Given the description of an element on the screen output the (x, y) to click on. 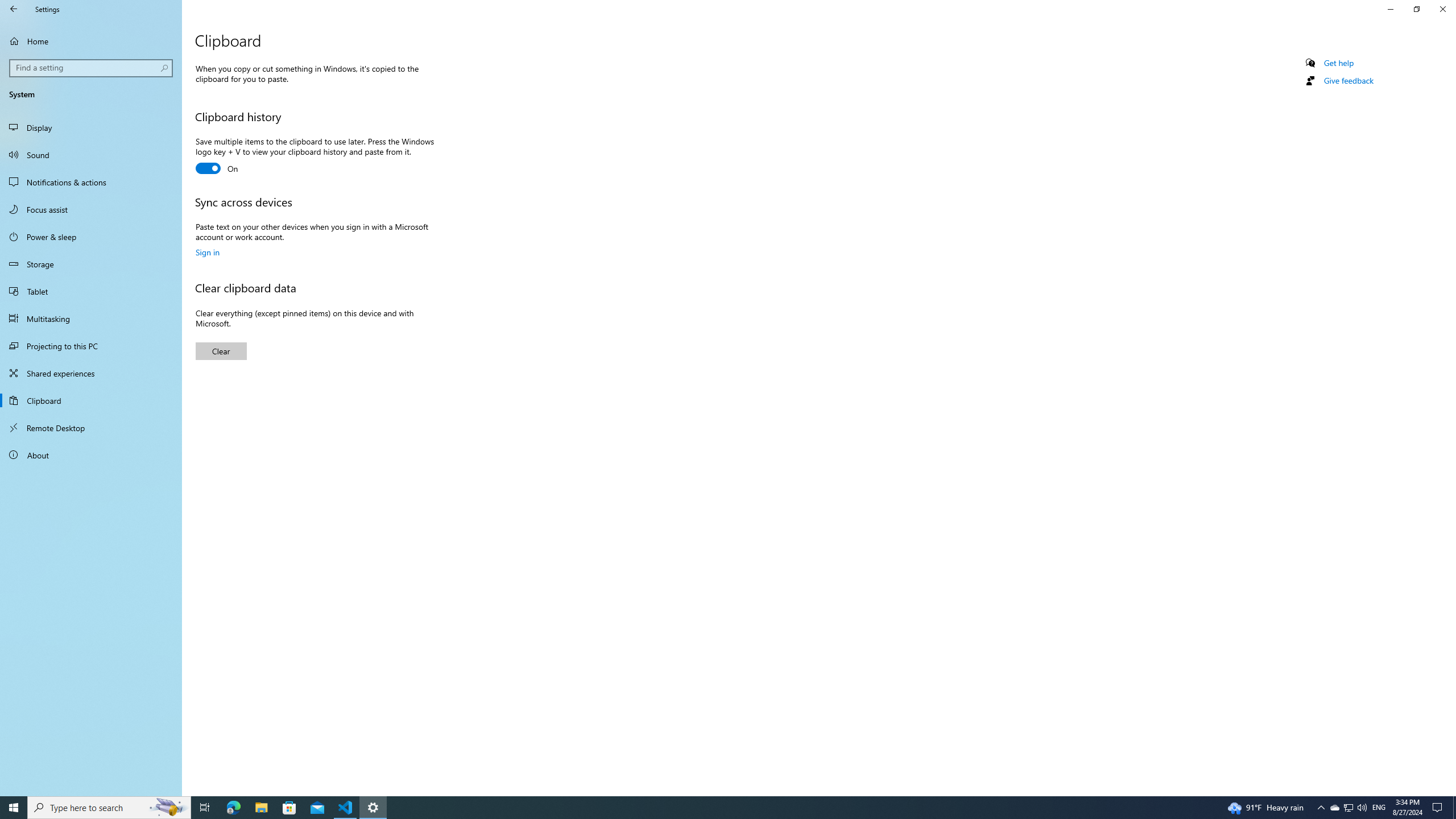
Notifications & actions (91, 181)
Get help (1338, 62)
Display (91, 126)
Multitasking (91, 318)
Storage (91, 263)
Sign in (207, 251)
Tablet (91, 290)
About (91, 454)
Clipboard (91, 400)
